Given the description of an element on the screen output the (x, y) to click on. 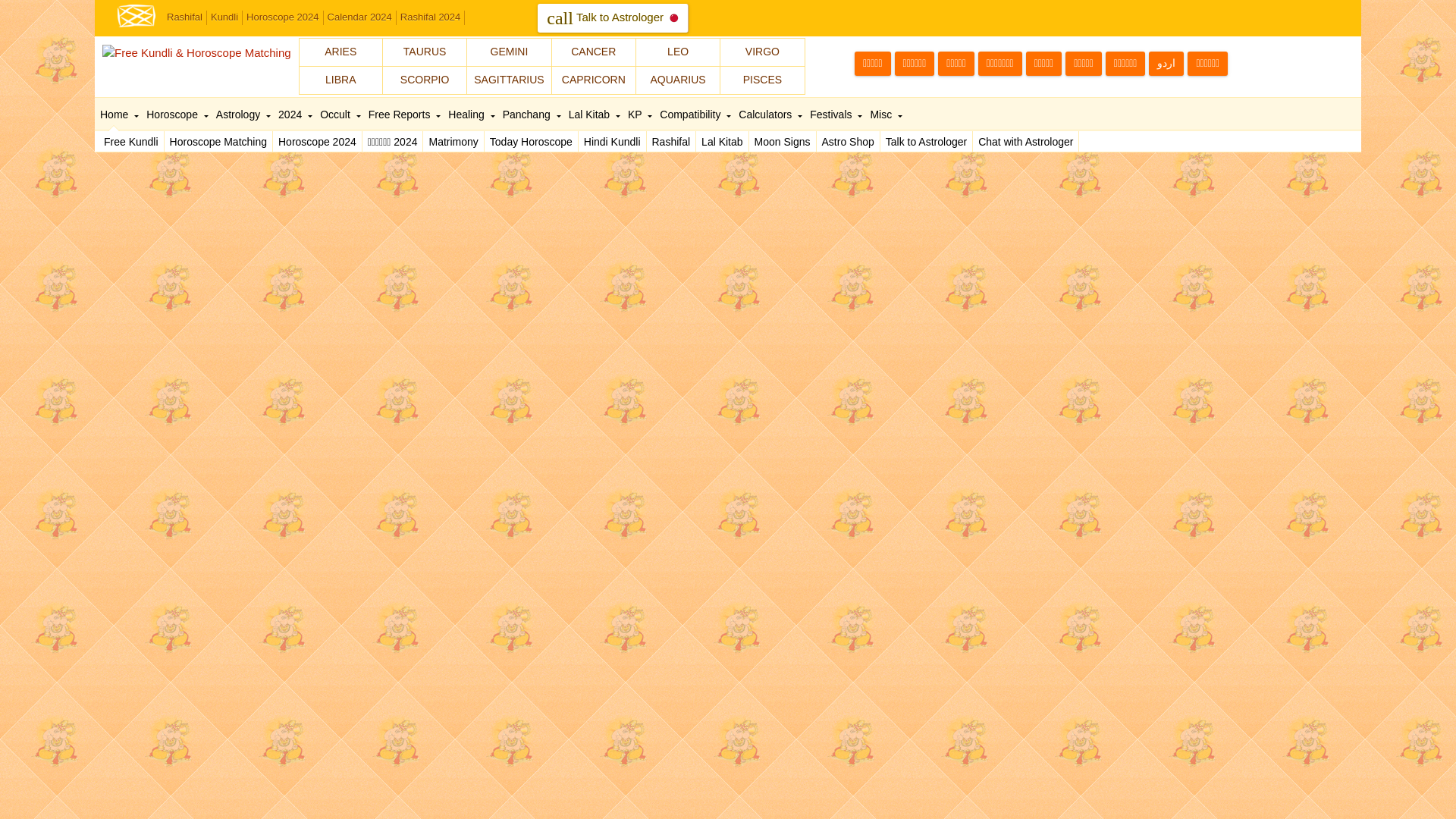
Today Horoscope (531, 141)
Calendar 2024 (359, 17)
TAURUS (423, 52)
Moon Signs (782, 141)
Telugu (914, 63)
Lal Kitab (721, 141)
Gujarati (1000, 63)
LEO (677, 52)
SCORPIO (423, 80)
VIRGO (761, 52)
